Given the description of an element on the screen output the (x, y) to click on. 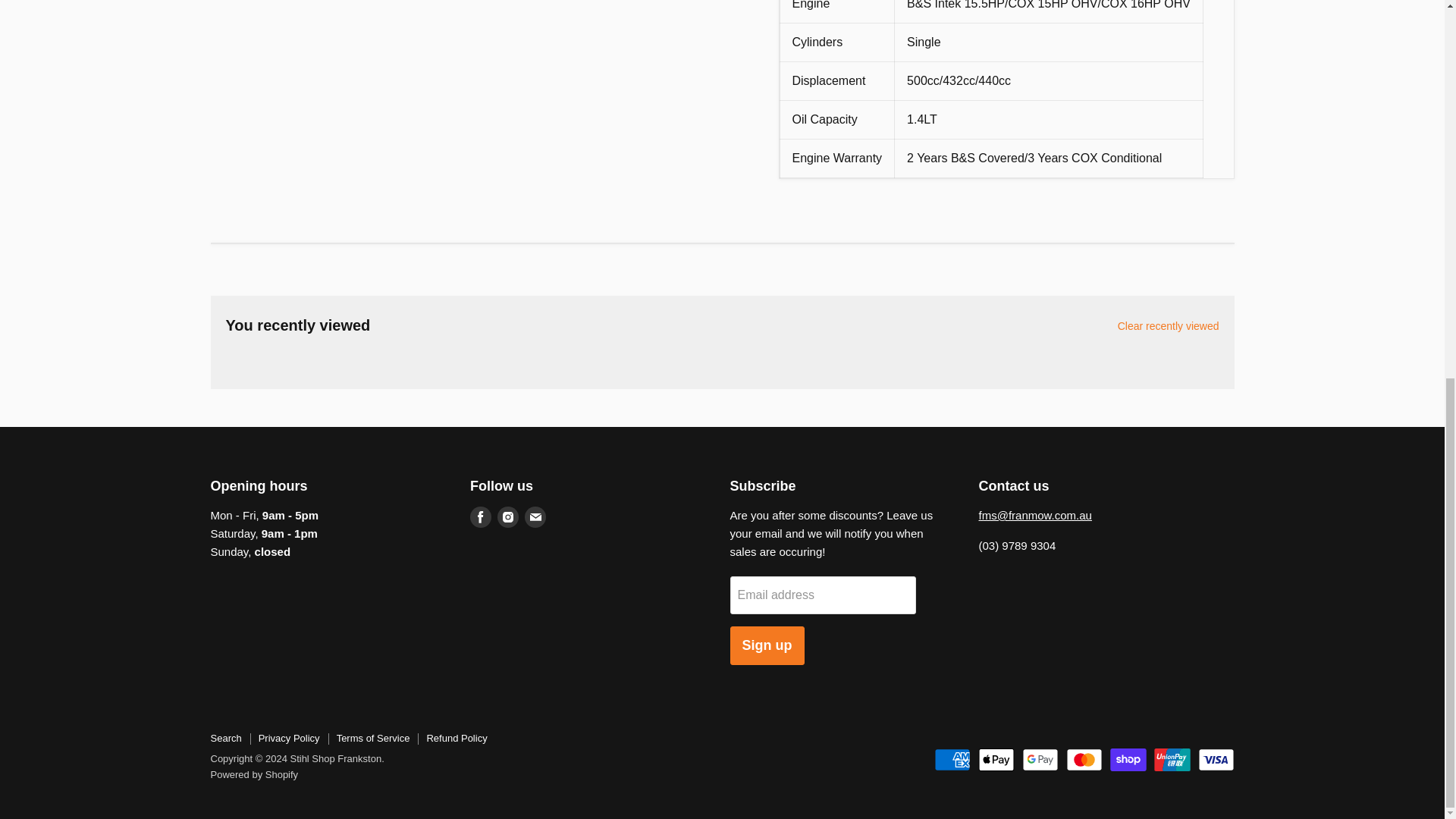
Facebook (481, 516)
Email (535, 516)
American Express (952, 759)
Apple Pay (996, 759)
Mastercard (1083, 759)
Google Pay (1040, 759)
Instagram (507, 516)
